Given the description of an element on the screen output the (x, y) to click on. 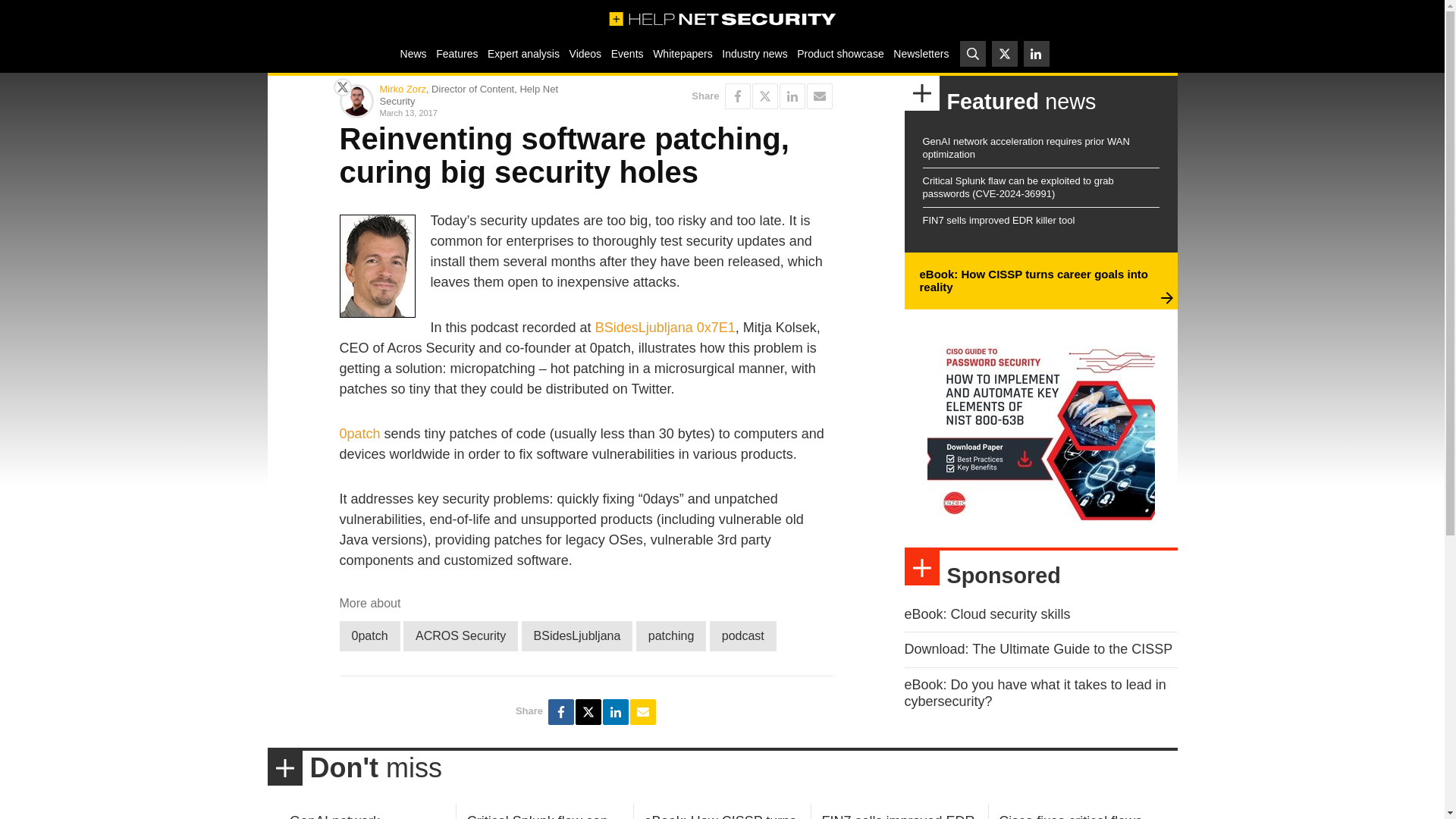
March 13, 2017 (478, 112)
News (412, 53)
Mirko Zorz (401, 89)
Industry news (754, 53)
eBook: Do you have what it takes to lead in cybersecurity? (1035, 693)
Videos (584, 53)
podcast (743, 635)
0patch (369, 635)
patching (671, 635)
patching (671, 635)
Features (456, 53)
Events (626, 53)
